Given the description of an element on the screen output the (x, y) to click on. 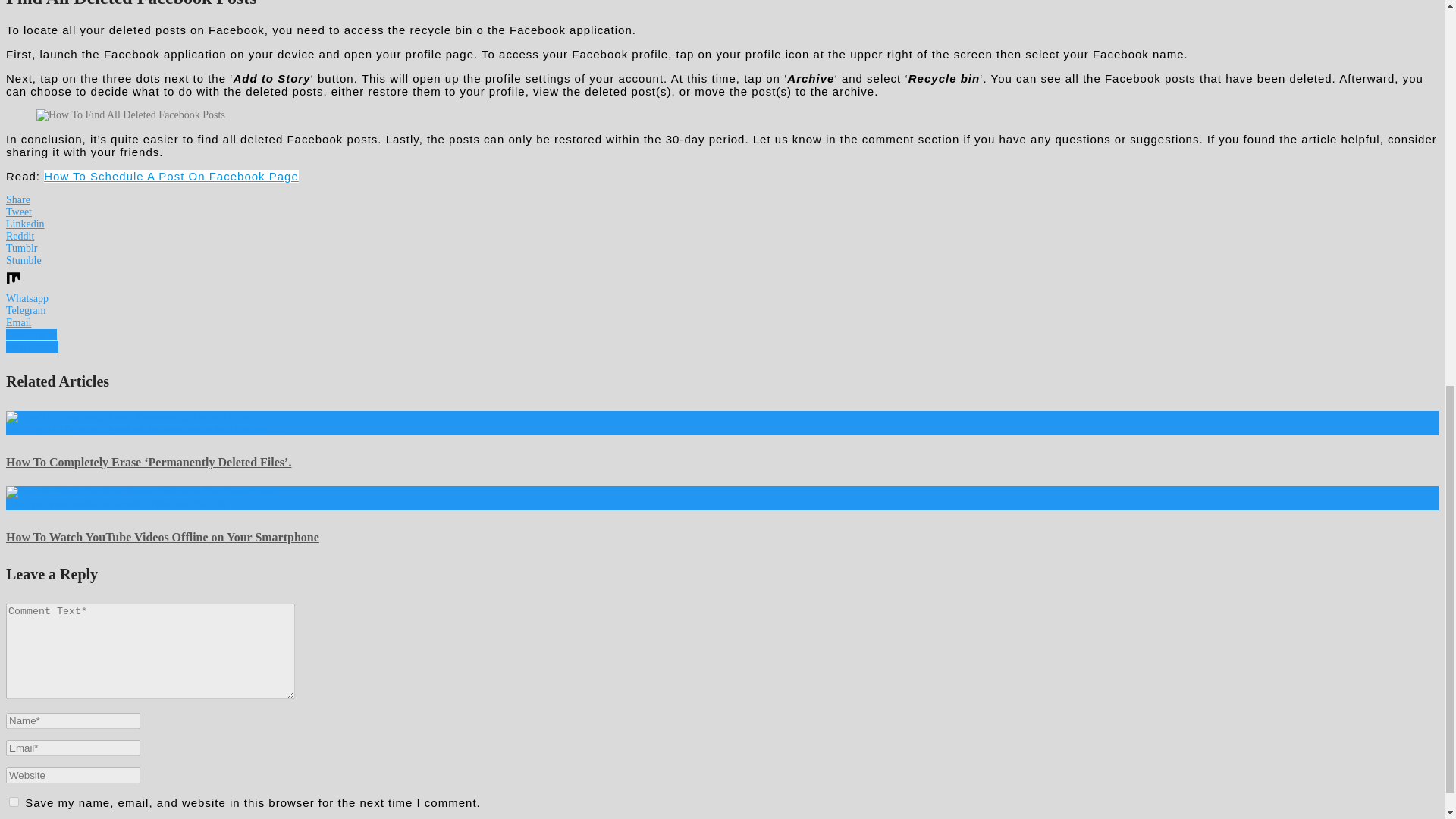
How To Watch YouTube Videos Offline on Your Smartphone (161, 536)
Next Article (31, 346)
How To Watch YouTube Videos Offline on Your Smartphone (161, 536)
How To Watch YouTube Videos Offline on Your Smartphone (141, 491)
Prev Article (30, 334)
How To Schedule A Post On Facebook Page (170, 175)
yes (13, 801)
